Given the description of an element on the screen output the (x, y) to click on. 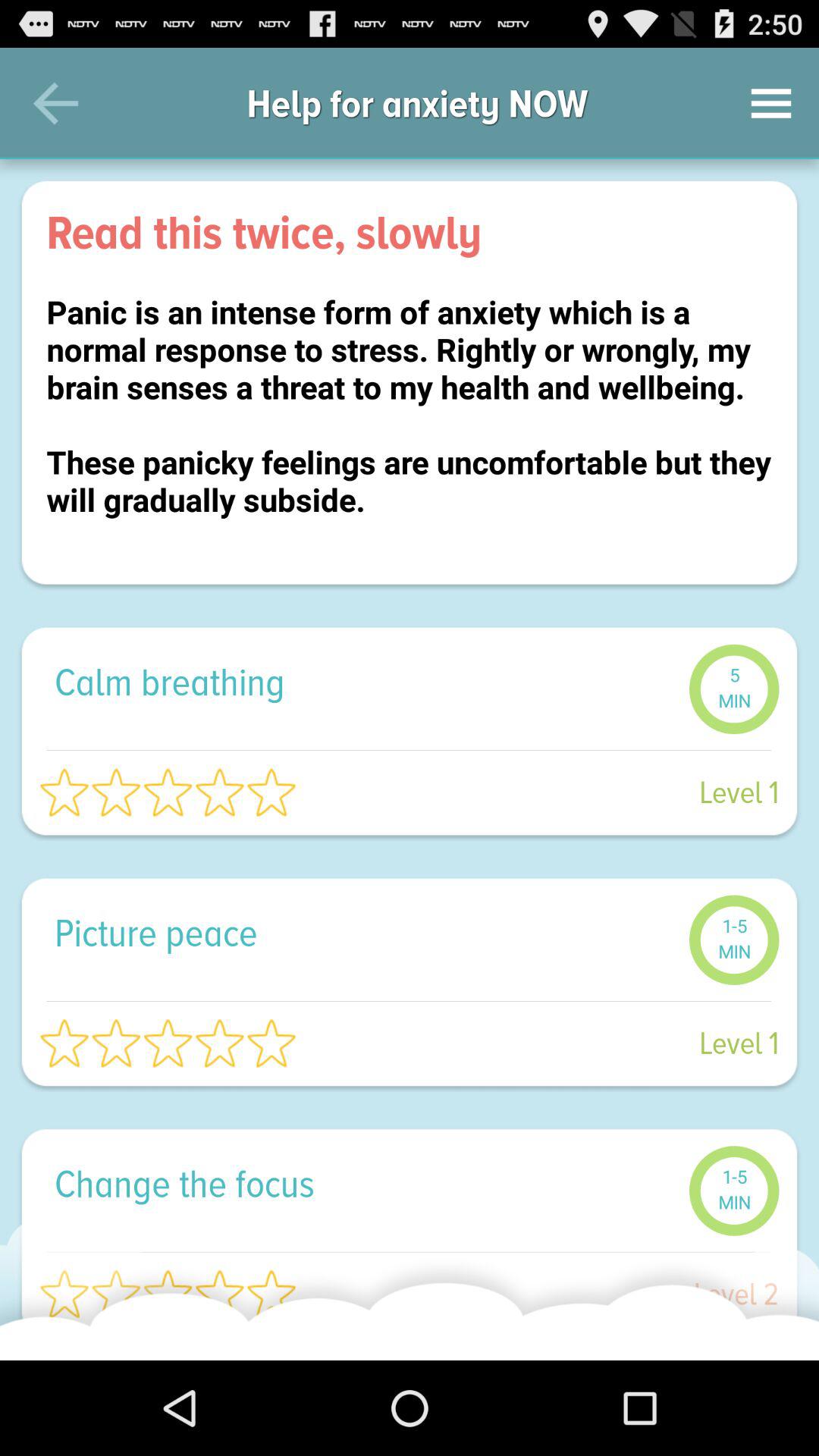
swipe until the picture peace item (363, 932)
